Given the description of an element on the screen output the (x, y) to click on. 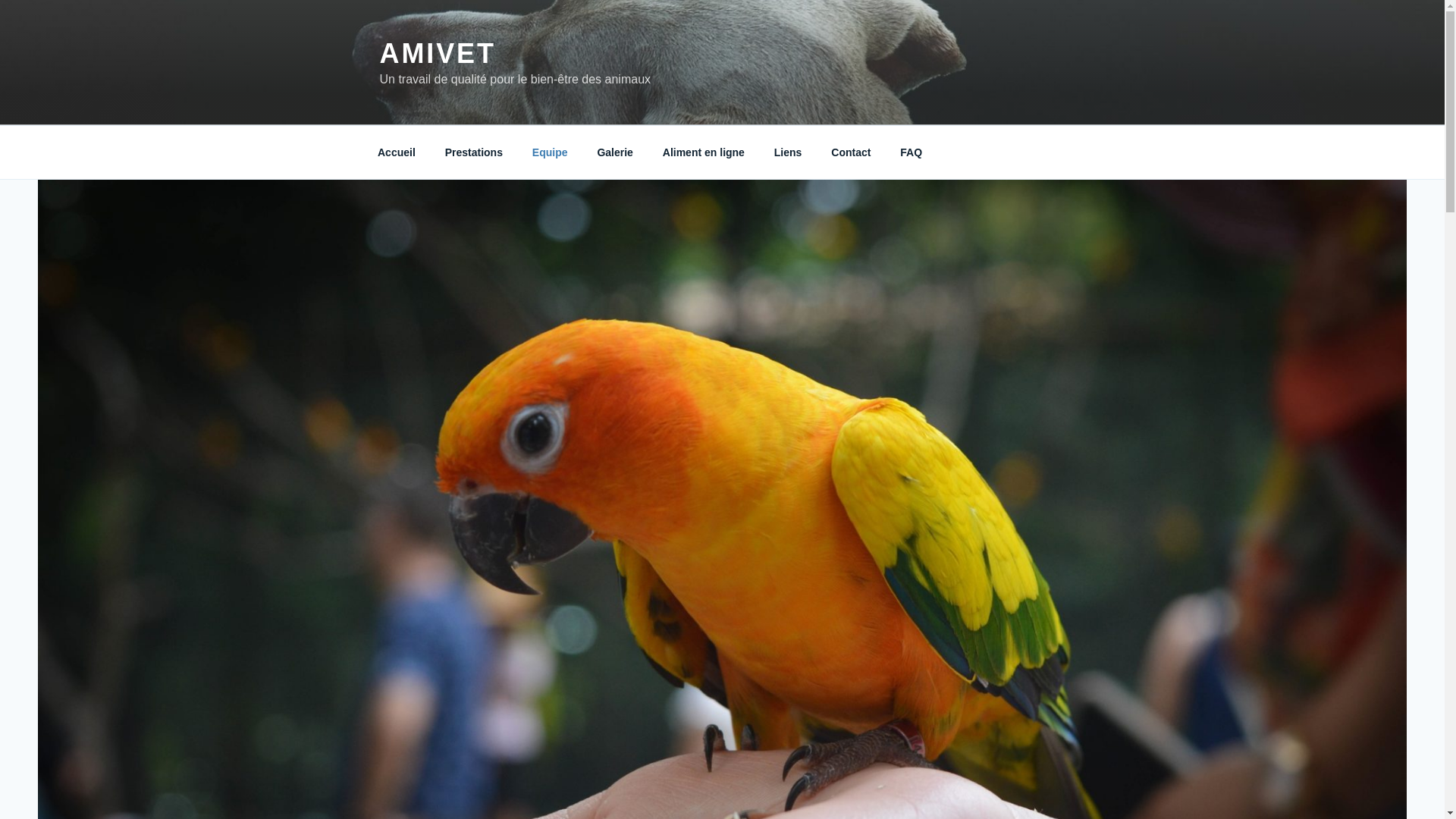
Equipe Element type: text (549, 151)
Contact Element type: text (851, 151)
FAQ Element type: text (911, 151)
Prestations Element type: text (473, 151)
Accueil Element type: text (396, 151)
Aliment en ligne Element type: text (703, 151)
AMIVET Element type: text (437, 53)
Galerie Element type: text (614, 151)
Liens Element type: text (787, 151)
